Given the description of an element on the screen output the (x, y) to click on. 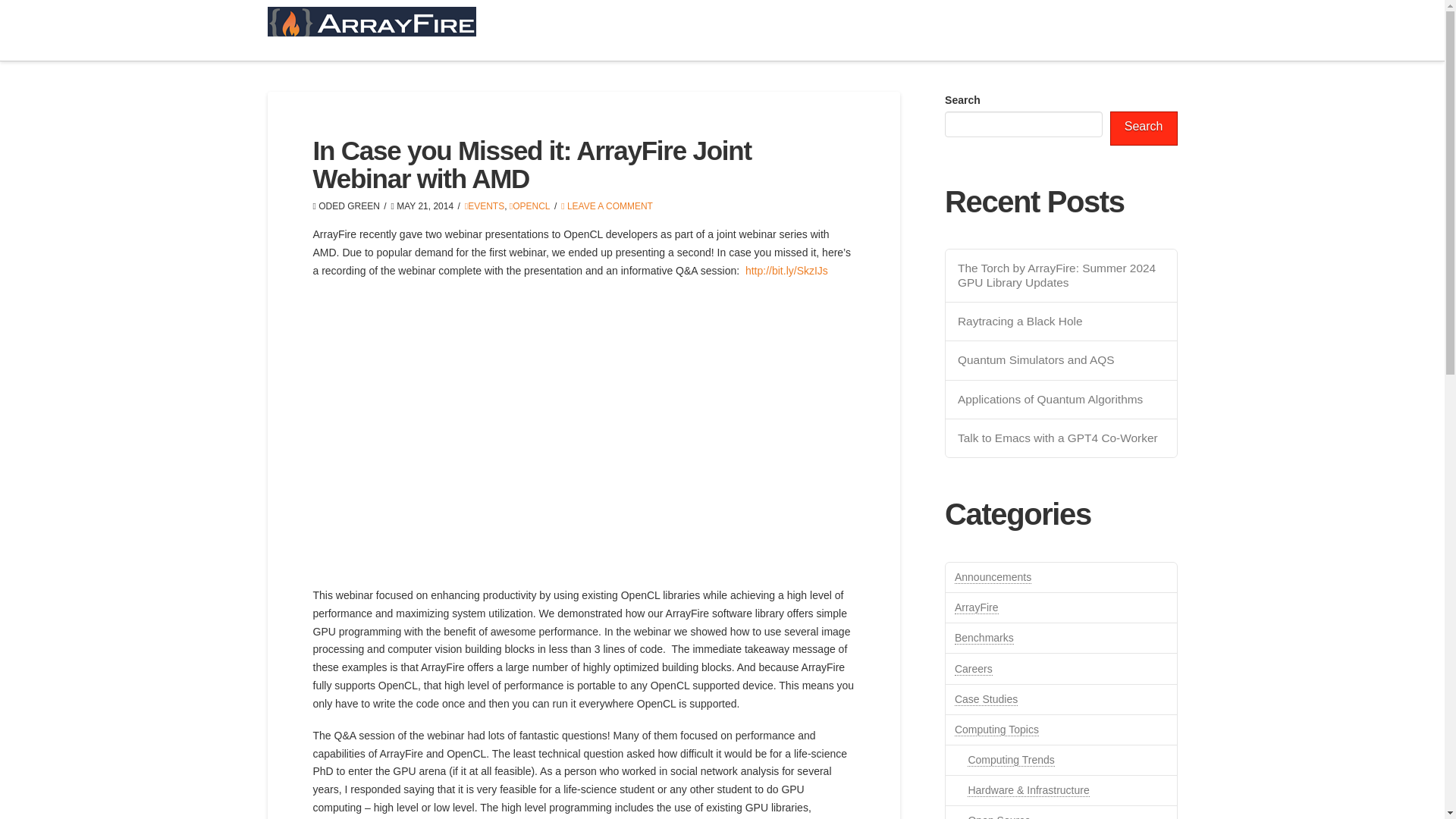
Case Studies (986, 698)
Raytracing a Black Hole (1061, 321)
Computing Trends (1011, 759)
Blog (1149, 30)
Quantum Simulators and AQS (1061, 359)
EVENTS (483, 204)
Applications of Quantum Algorithms (1061, 400)
ArrayFire (976, 607)
OPENCL (529, 204)
Download (917, 30)
